Given the description of an element on the screen output the (x, y) to click on. 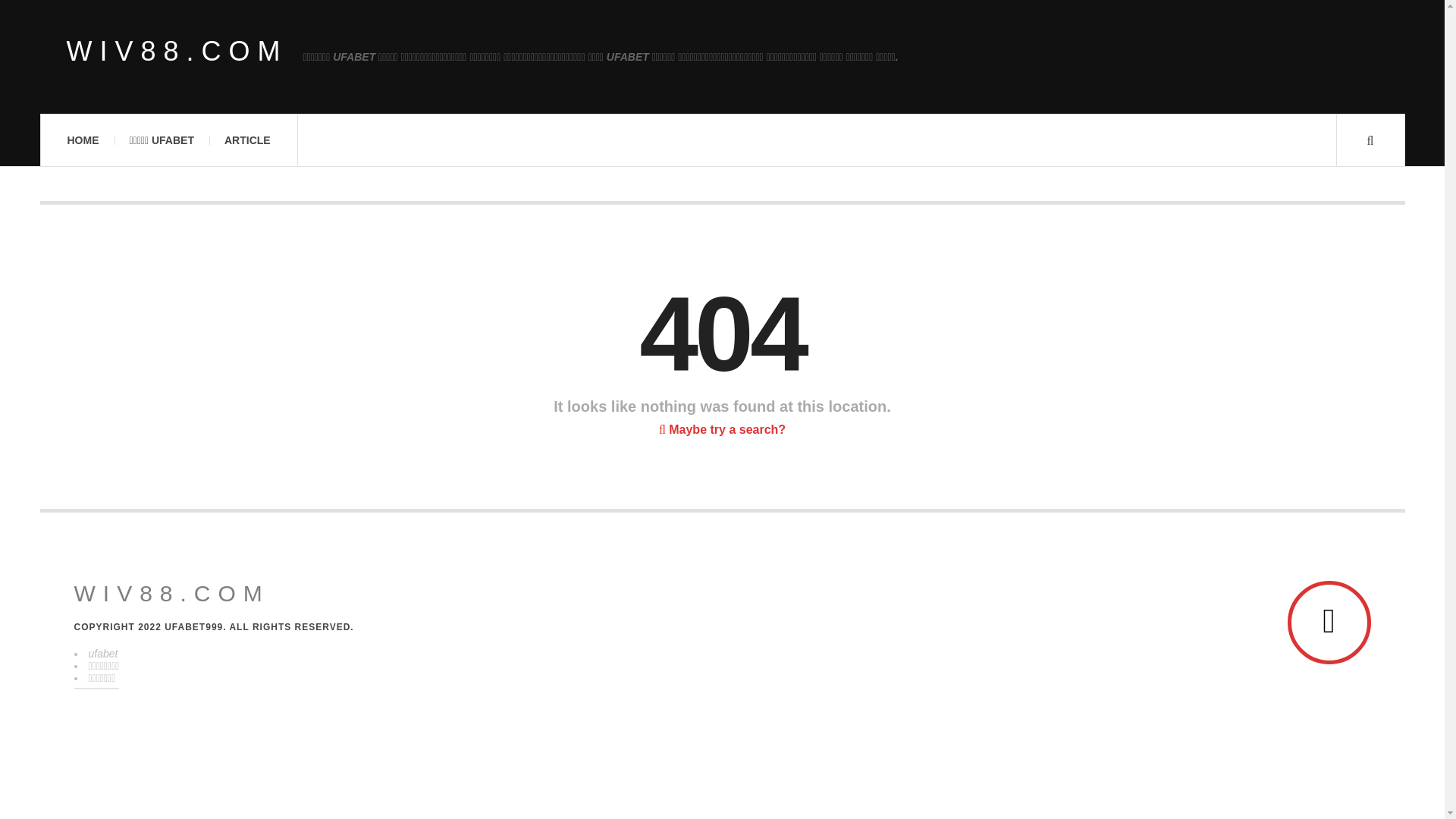
HOME (81, 140)
ARTICLE (247, 140)
wiv88.com (177, 51)
ufabet (102, 653)
wiv88.com (171, 593)
Maybe try a search? (722, 429)
WIV88.COM (171, 593)
WIV88.COM (177, 51)
